Given the description of an element on the screen output the (x, y) to click on. 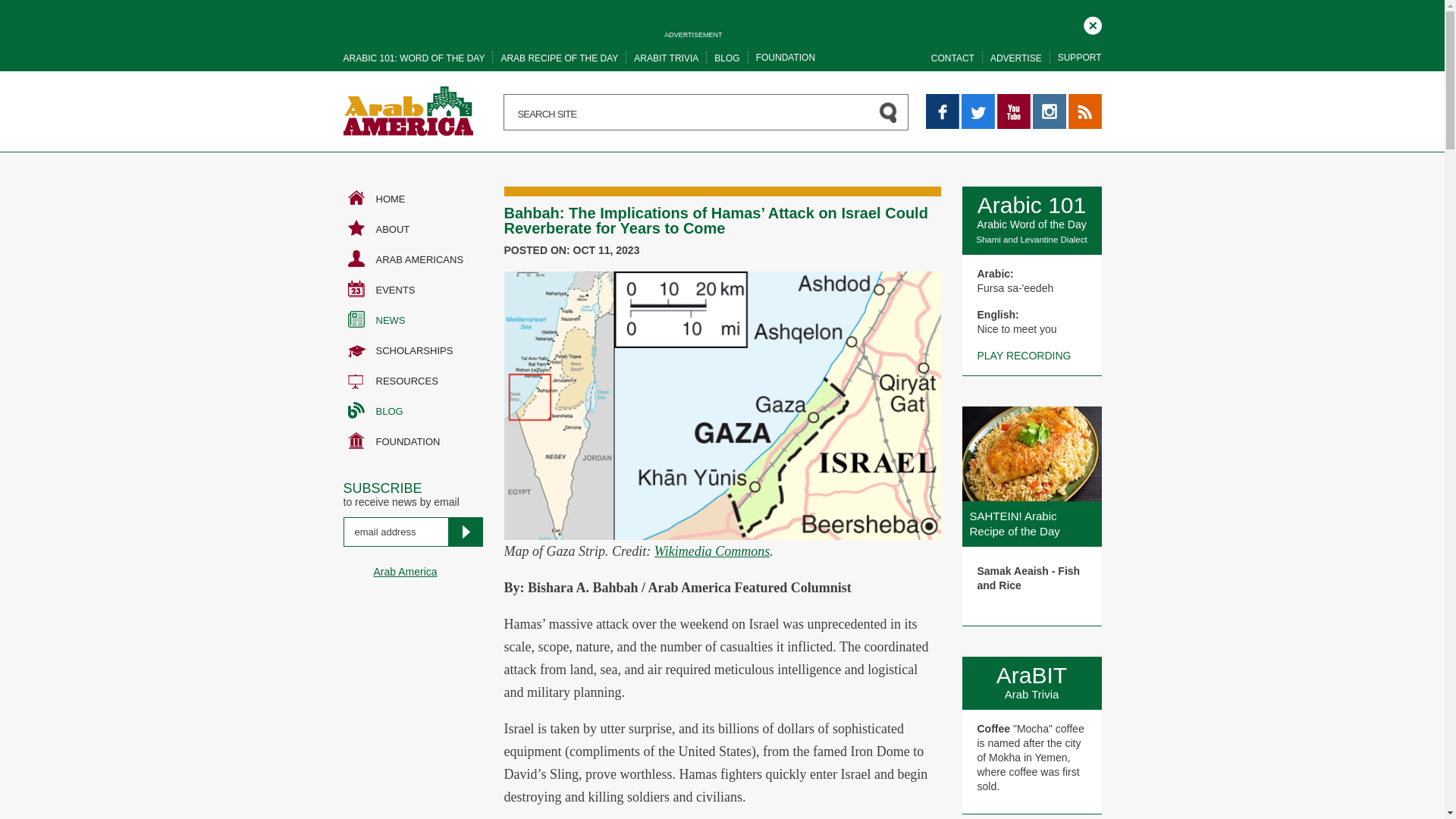
Instagram (1048, 111)
Search for: (705, 112)
ARABIT TRIVIA (665, 58)
FOUNDATION (785, 57)
BLOG (726, 58)
HOME (411, 199)
Facebook (941, 111)
Search (37, 15)
RSS (1083, 111)
Close (1091, 25)
CONTACT (952, 58)
ARAB RECIPE OF THE DAY (558, 58)
ARABIC 101: WORD OF THE DAY (413, 58)
SUPPORT (1080, 57)
Send (463, 531)
